Given the description of an element on the screen output the (x, y) to click on. 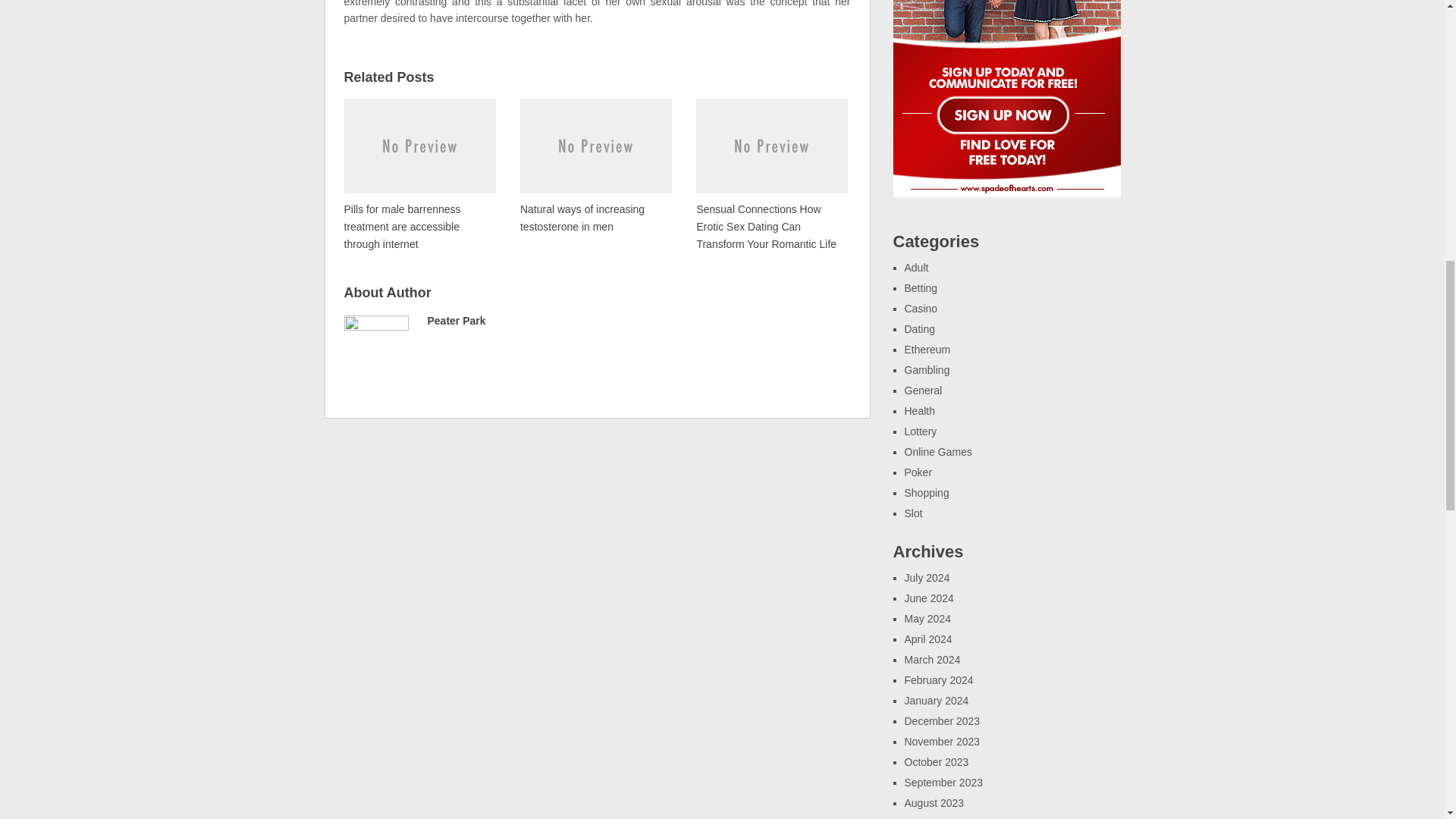
Betting (920, 287)
Natural ways of increasing testosterone in men (595, 165)
Natural ways of increasing testosterone in men (595, 165)
Dating (919, 328)
Gambling (926, 369)
General (923, 390)
Adult (916, 267)
Casino (920, 308)
Ethereum (927, 349)
